Given the description of an element on the screen output the (x, y) to click on. 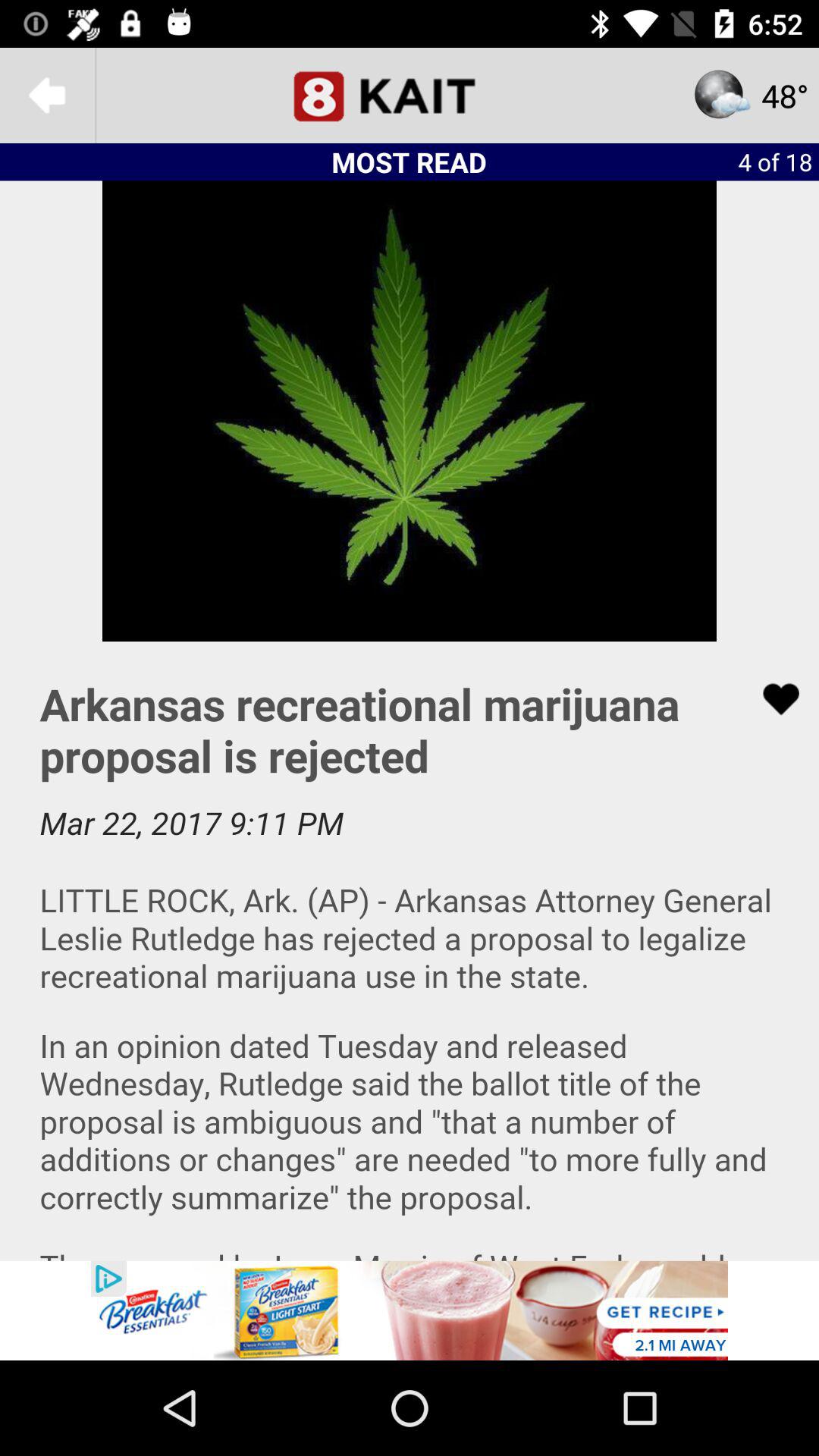
seeing in the paragraph (409, 950)
